Given the description of an element on the screen output the (x, y) to click on. 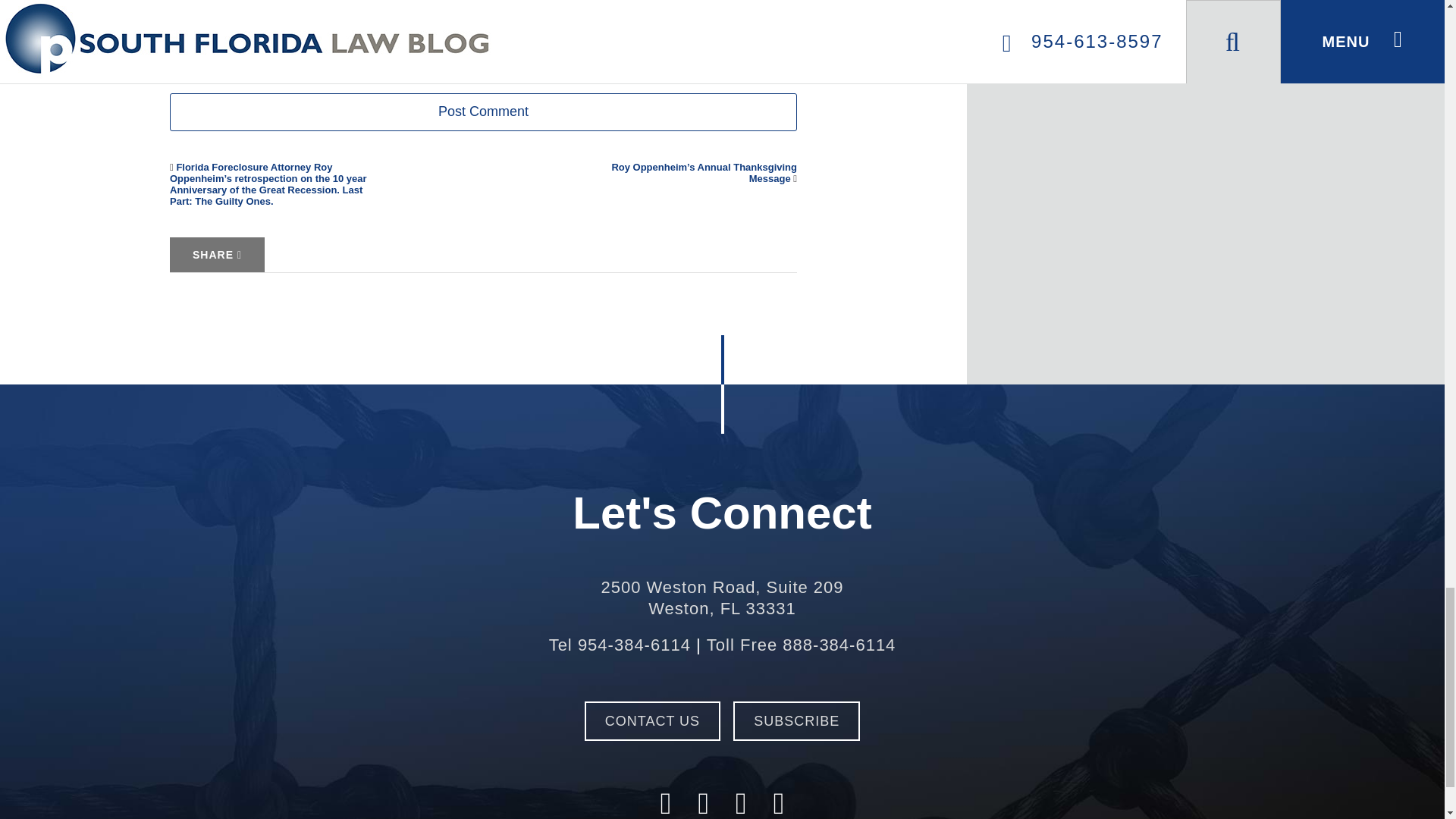
yes (483, 13)
Post Comment (483, 112)
Post Comment (721, 598)
SHARE (483, 112)
